Given the description of an element on the screen output the (x, y) to click on. 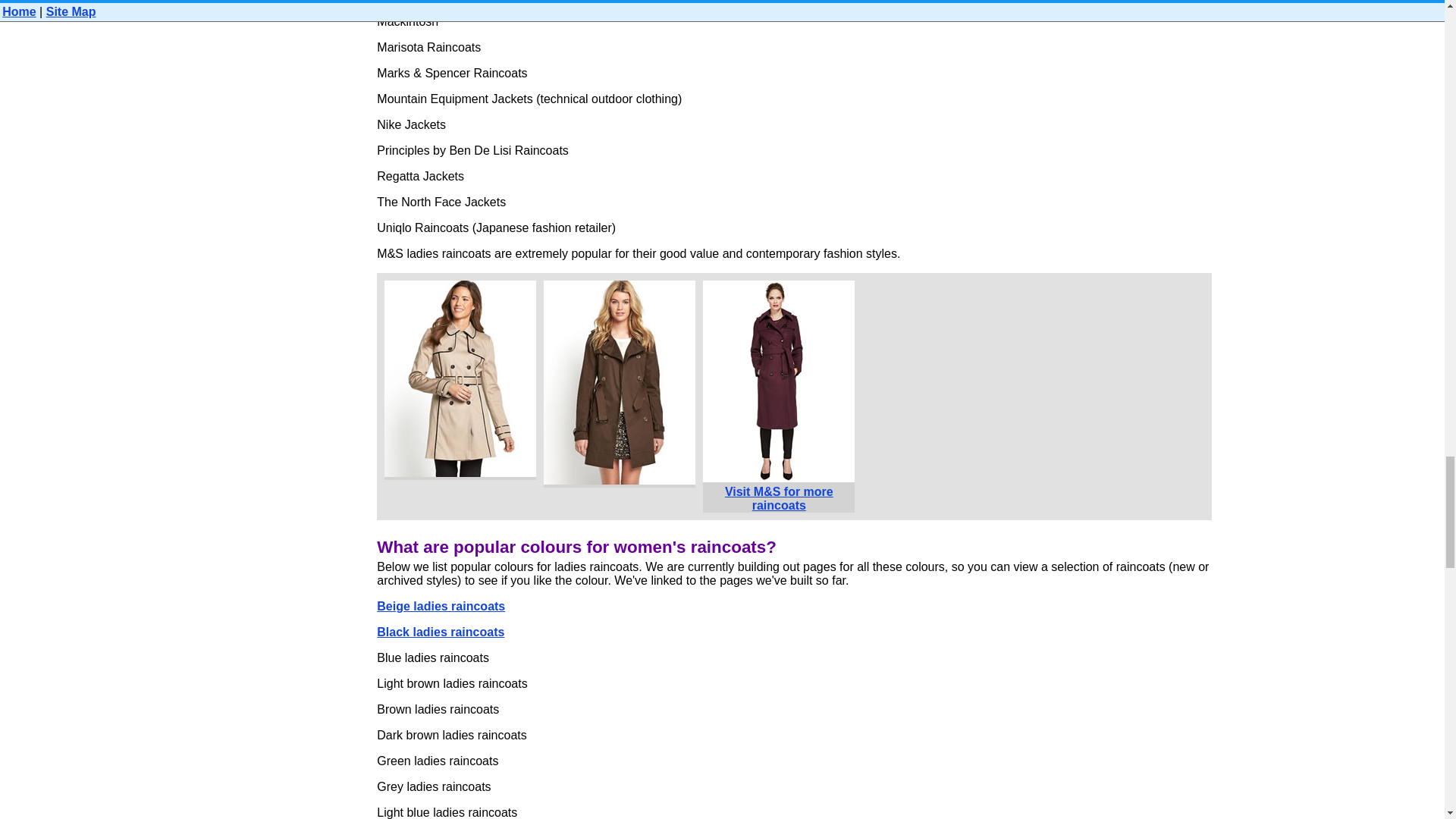
Beige ladies raincoats (441, 605)
